Given the description of an element on the screen output the (x, y) to click on. 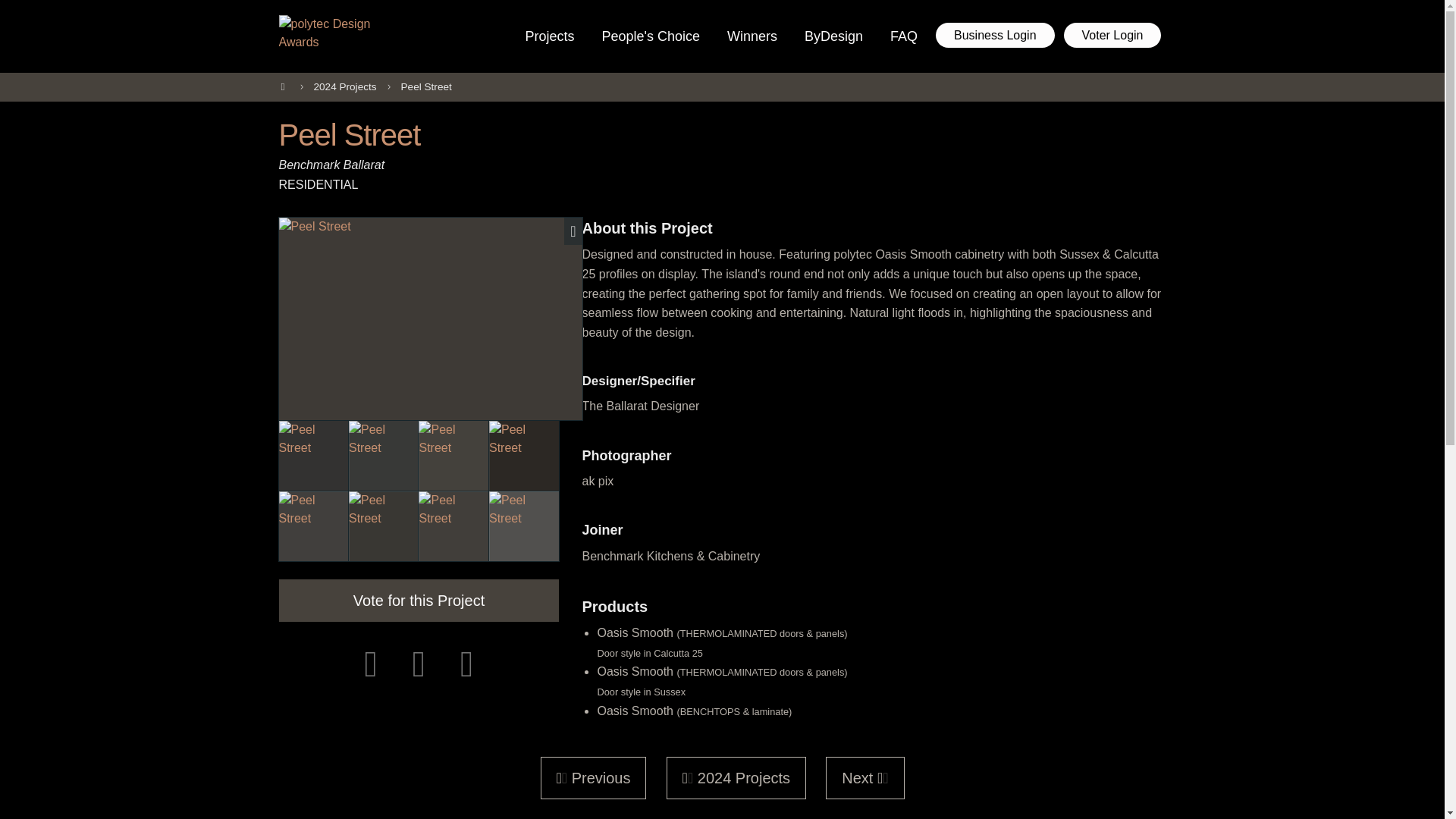
2024 Projects (344, 86)
ByDesign (833, 36)
Business Login (995, 34)
Winners (751, 36)
2024 Projects (736, 777)
Vote for this Project (419, 600)
FAQ (903, 36)
Next (864, 777)
Previous (593, 777)
Voter Login (1112, 34)
